Given the description of an element on the screen output the (x, y) to click on. 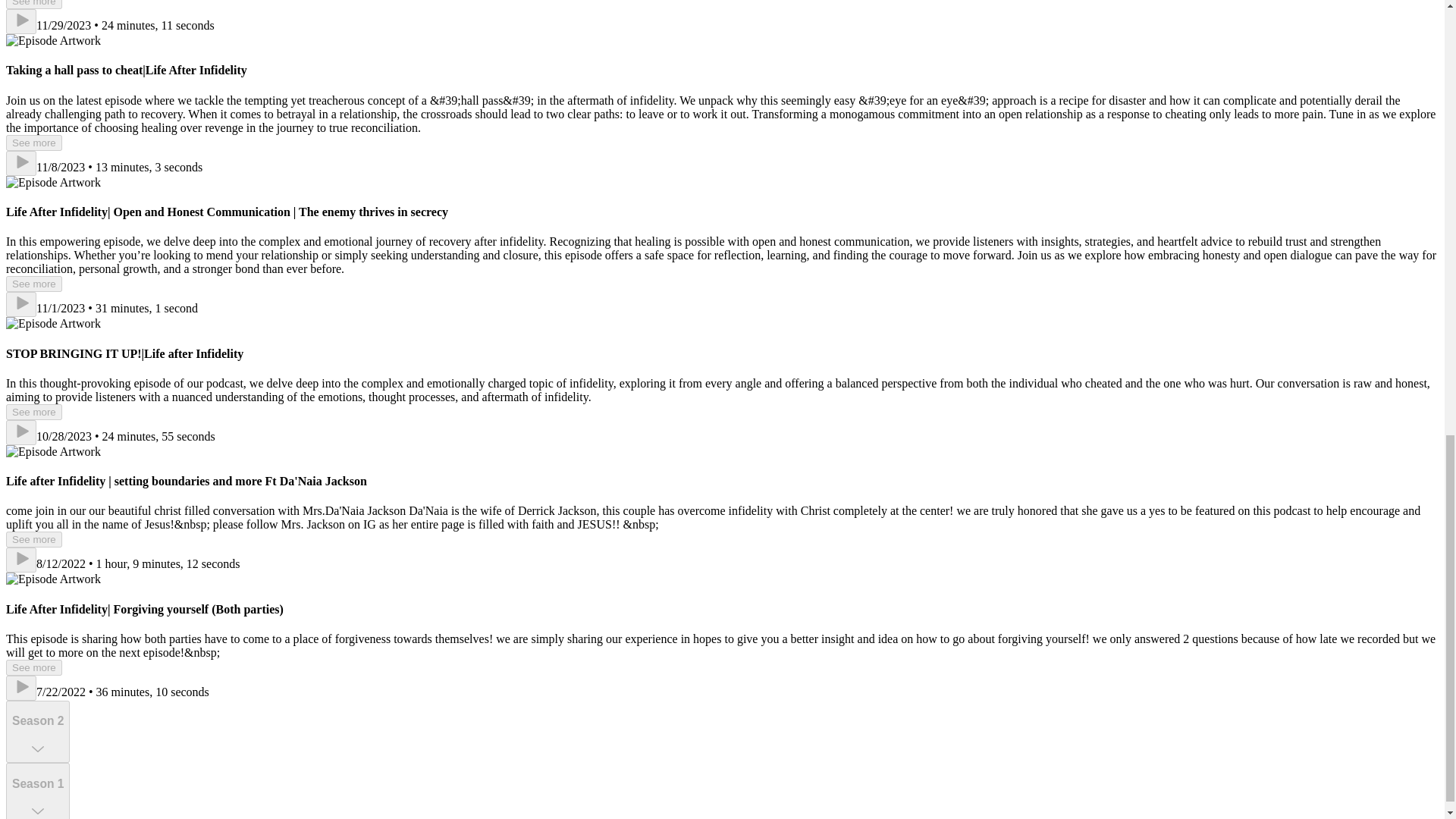
See more (33, 4)
See more (33, 667)
See more (33, 142)
See more (33, 539)
See more (33, 412)
Season 2 (37, 731)
See more (33, 283)
